Given the description of an element on the screen output the (x, y) to click on. 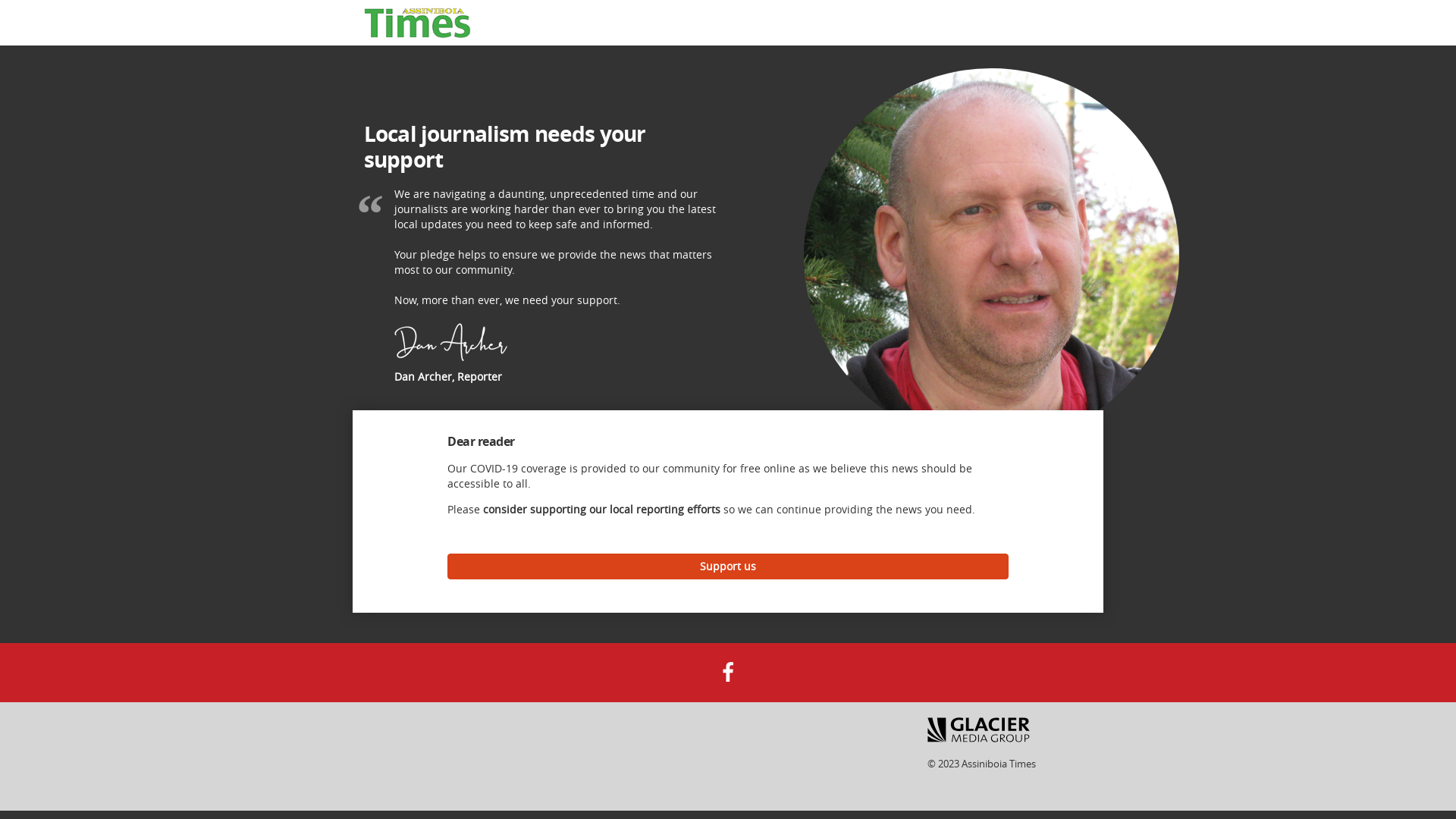
Support us Element type: text (727, 566)
Facebook Element type: hover (727, 671)
